Given the description of an element on the screen output the (x, y) to click on. 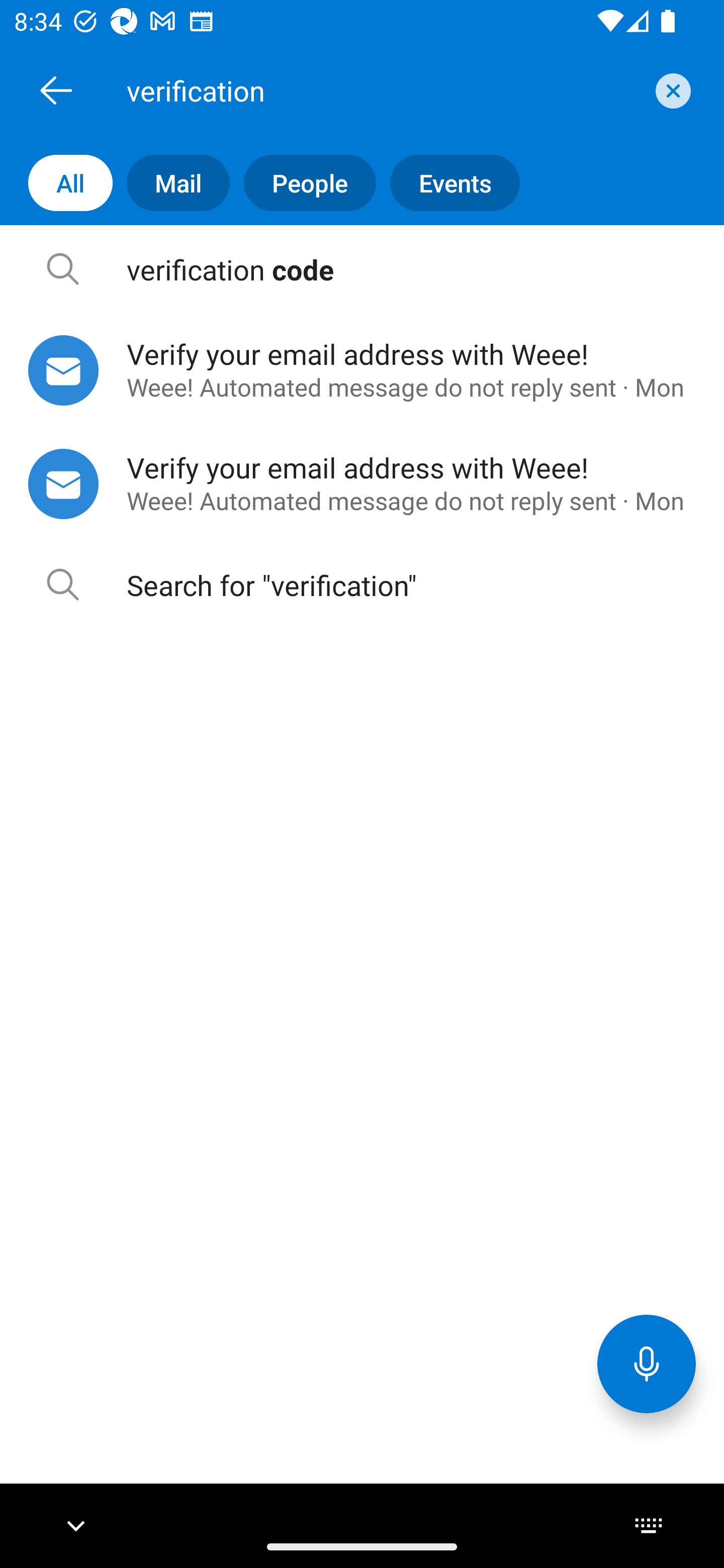
Back (55, 89)
verification (384, 89)
clear search (670, 90)
Mail (170, 183)
People (302, 183)
Events (447, 183)
Voice Assistant (646, 1362)
